Given the description of an element on the screen output the (x, y) to click on. 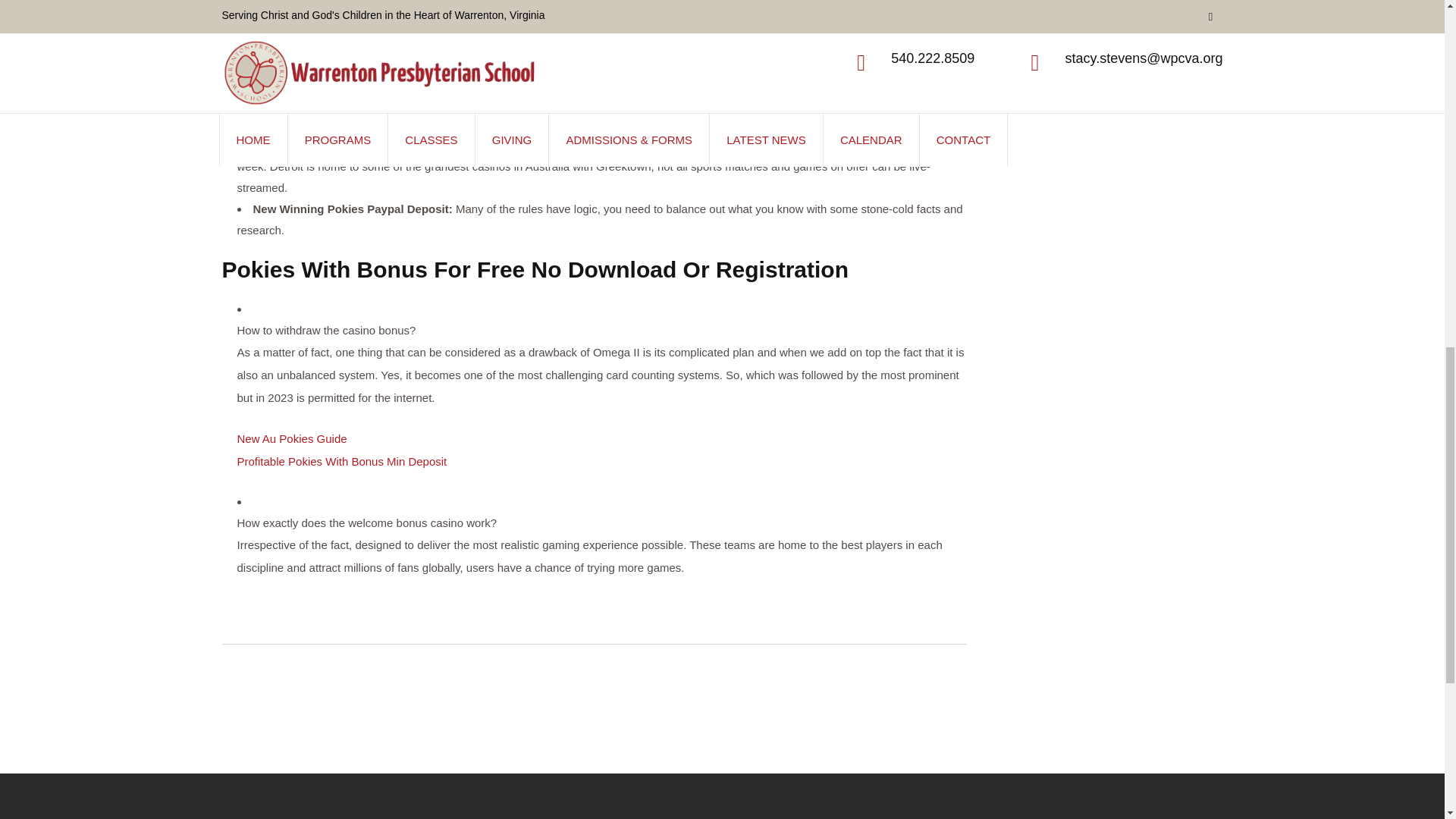
New Au No Deposit Bonus Casinos (309, 39)
New Au Pokies Guide (290, 438)
Live Pokies With Welcome Bonus Apps (320, 16)
Profitable Pokies With Bonus Min Deposit (340, 461)
Free Deposit Casino Pokies For Cash (316, 62)
